Given the description of an element on the screen output the (x, y) to click on. 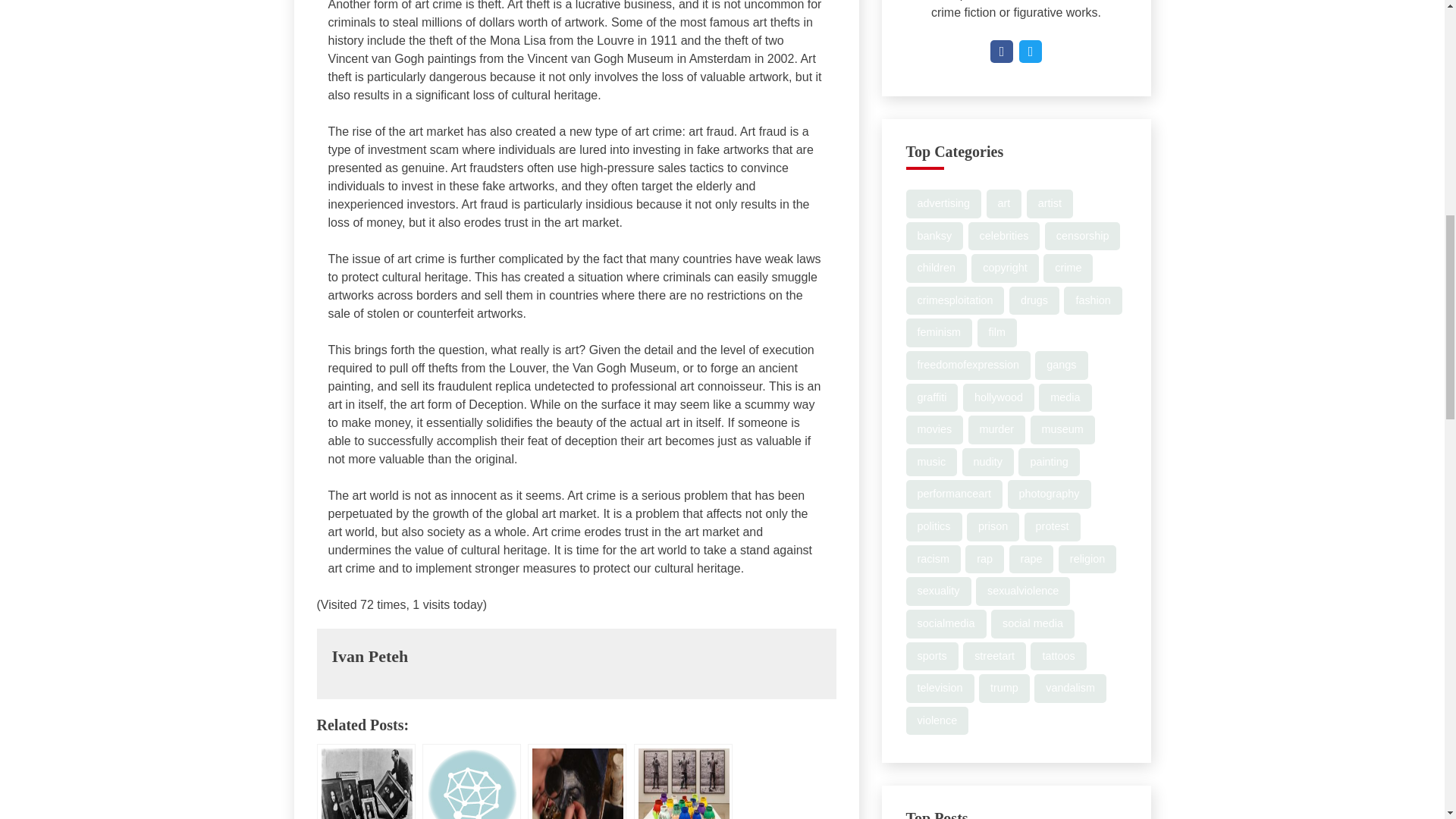
Forgery for the Greater Good (576, 781)
Is it art or just a crime? (682, 781)
Forgery for the Greater Good (576, 781)
Is it art or just a crime? (682, 781)
